Given the description of an element on the screen output the (x, y) to click on. 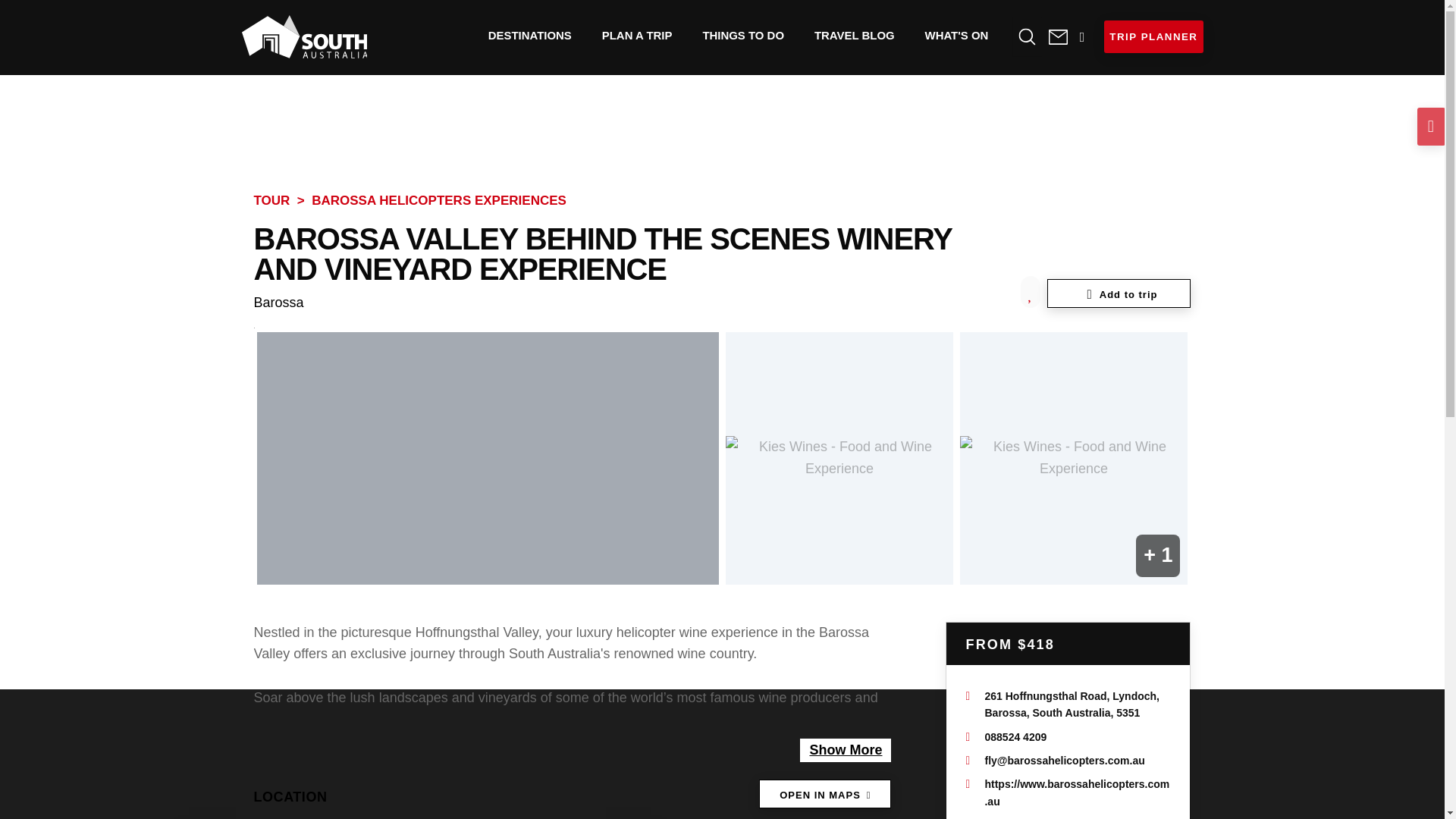
TRIP PLANNER (1152, 36)
WHAT'S ON (957, 34)
Plan a trip (636, 34)
Things to do (743, 34)
PLAN A TRIP (636, 34)
THINGS TO DO (743, 34)
Destinations (529, 34)
DESTINATIONS (529, 34)
What's on (957, 34)
TRAVEL BLOG (854, 34)
Travel blog (854, 34)
